Given the description of an element on the screen output the (x, y) to click on. 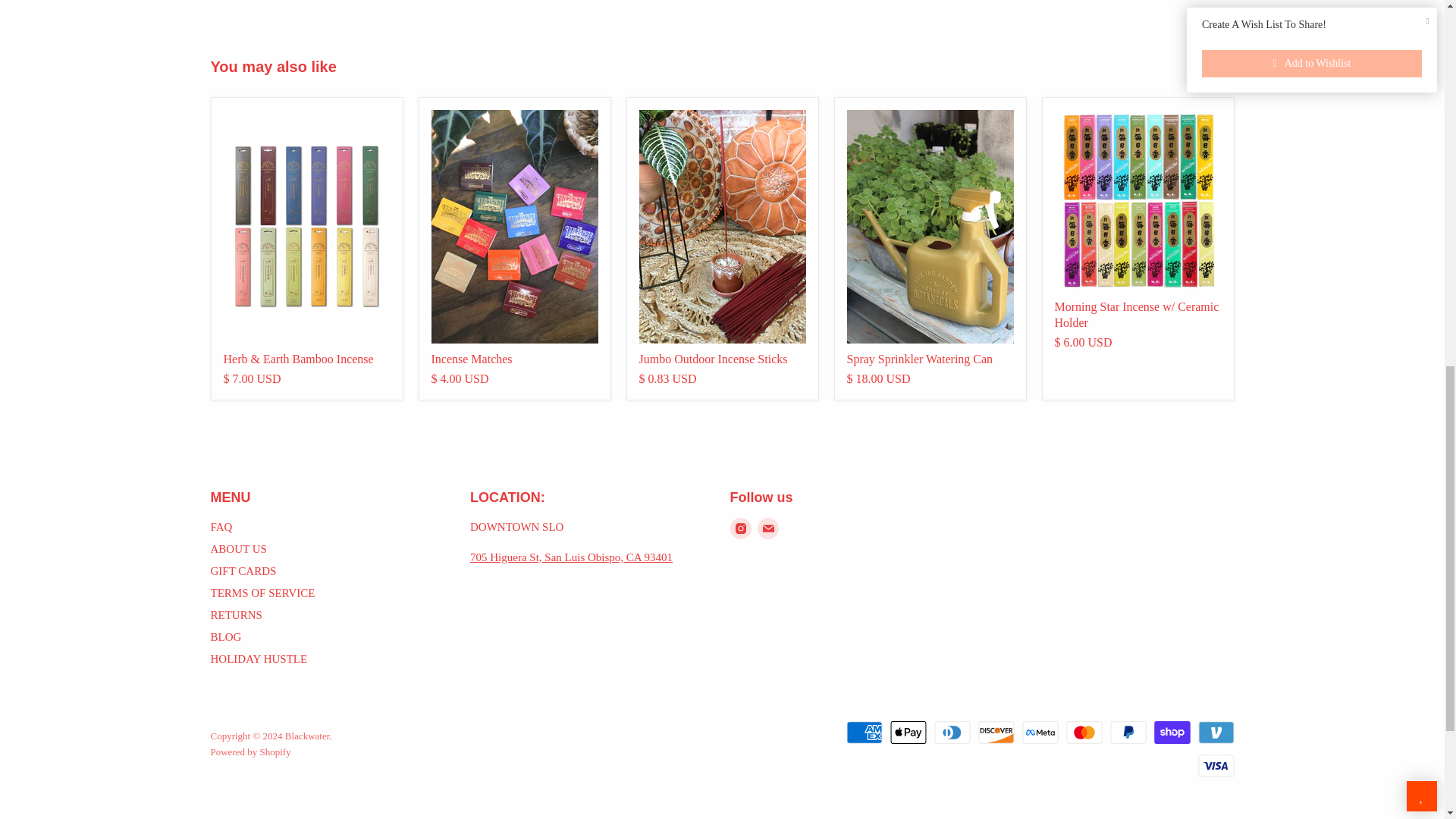
Instagram (740, 528)
E-mail (767, 528)
